Given the description of an element on the screen output the (x, y) to click on. 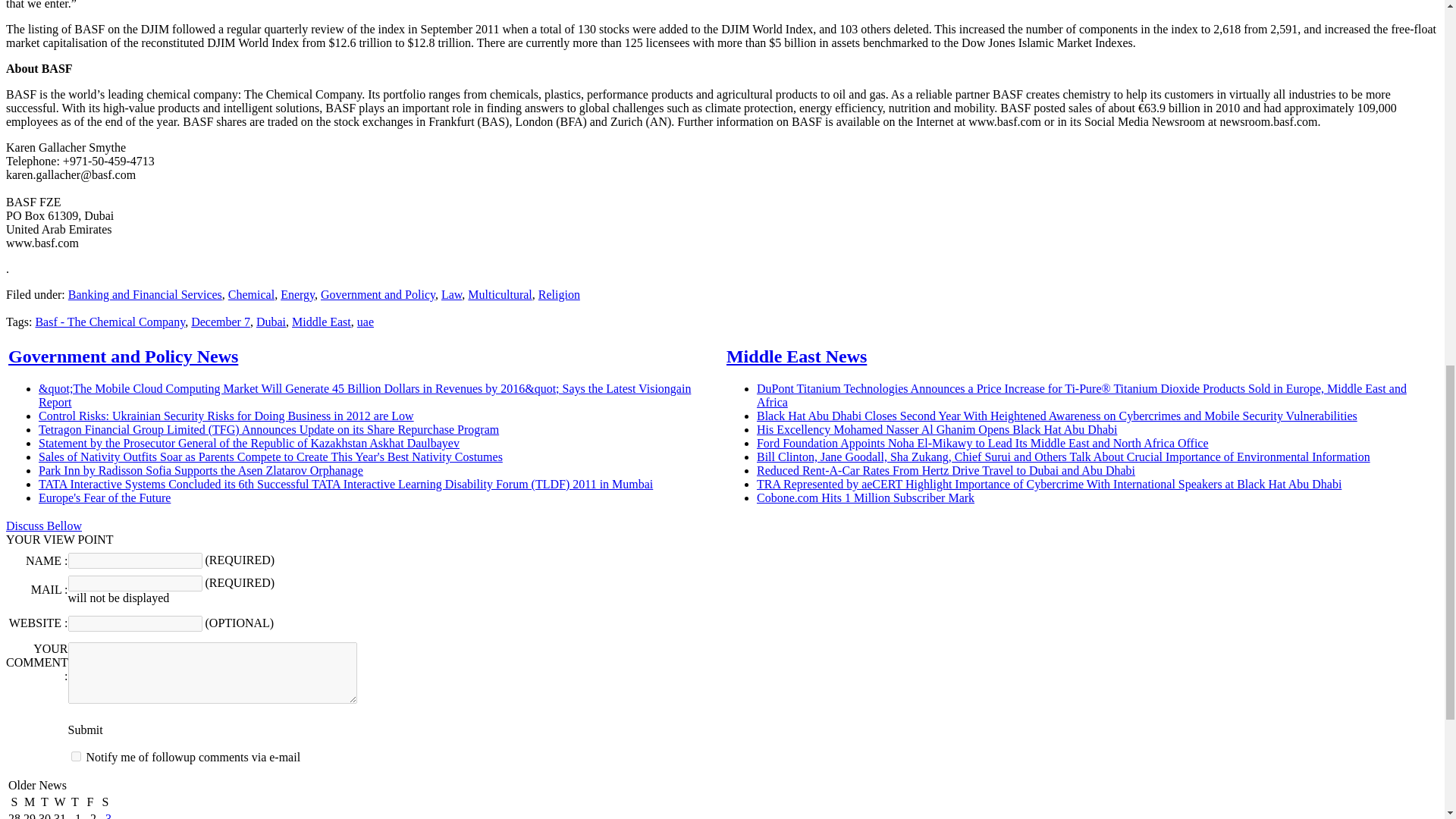
Religion (558, 294)
Basf - The Chemical Company (109, 321)
Law (451, 294)
Banking and Financial Services (145, 294)
Energy (297, 294)
Government and Policy (377, 294)
Multicultural (499, 294)
subscribe (76, 756)
Chemical (251, 294)
